Given the description of an element on the screen output the (x, y) to click on. 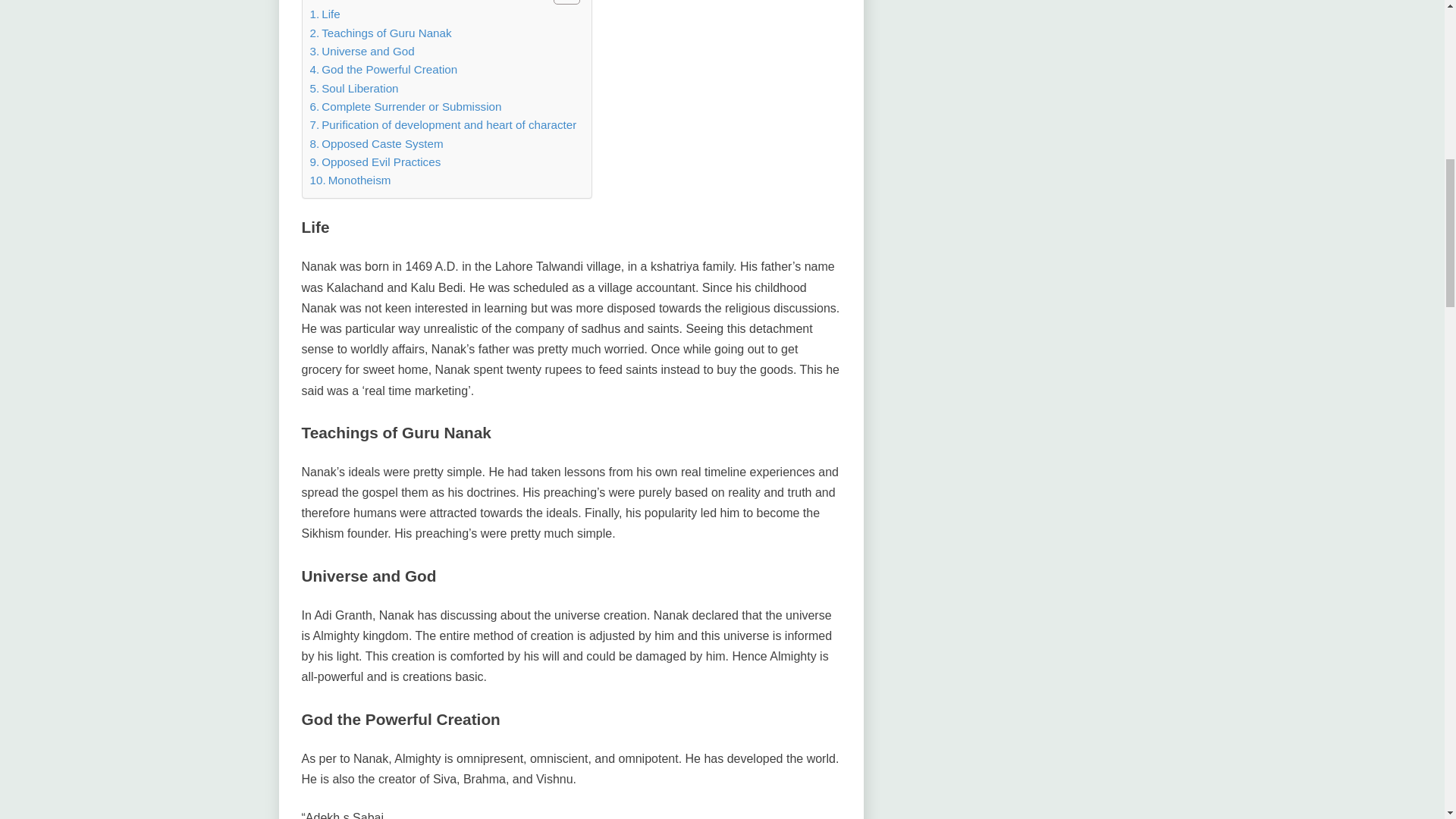
Soul Liberation (352, 88)
Opposed Caste System (375, 144)
Life (323, 13)
Universe and God (360, 51)
Purification of development and heart of character (442, 125)
Soul Liberation (352, 88)
Life (323, 13)
Teachings of Guru Nanak (379, 33)
Complete Surrender or Submission (404, 106)
God the Powerful Creation (382, 69)
